Given the description of an element on the screen output the (x, y) to click on. 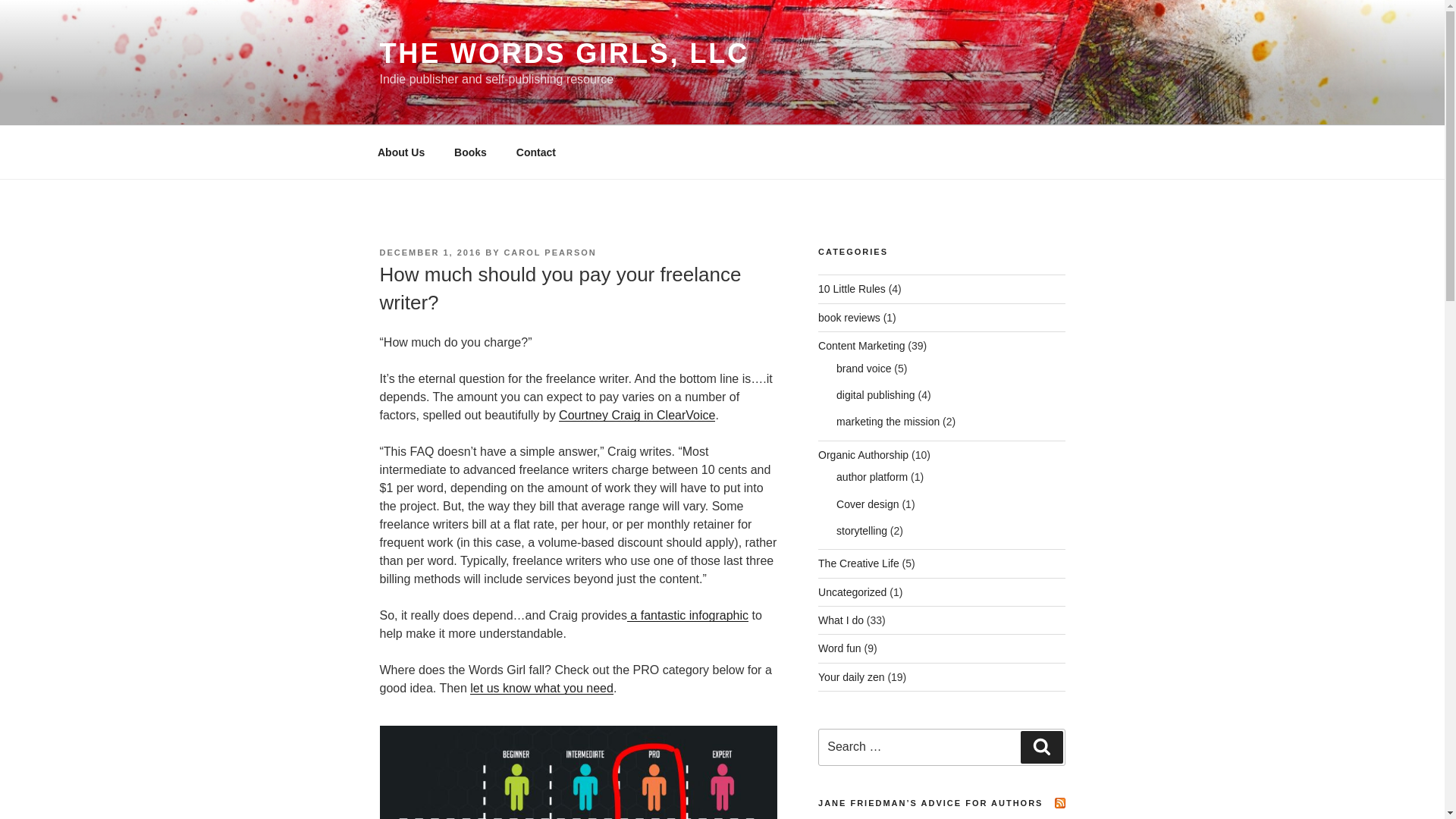
digital publishing (875, 395)
Word fun (839, 648)
THE WORDS GIRLS, LLC (563, 52)
Cover design (867, 503)
How much should you expect to pay your freelance writer? (577, 772)
author platform (871, 476)
10 Little Rules (851, 288)
DECEMBER 1, 2016 (429, 252)
a fantastic infographic (687, 615)
Content Marketing (861, 345)
storytelling (860, 530)
brand voice (863, 368)
Books (470, 151)
Uncategorized (852, 592)
Organic Authorship (863, 454)
